Given the description of an element on the screen output the (x, y) to click on. 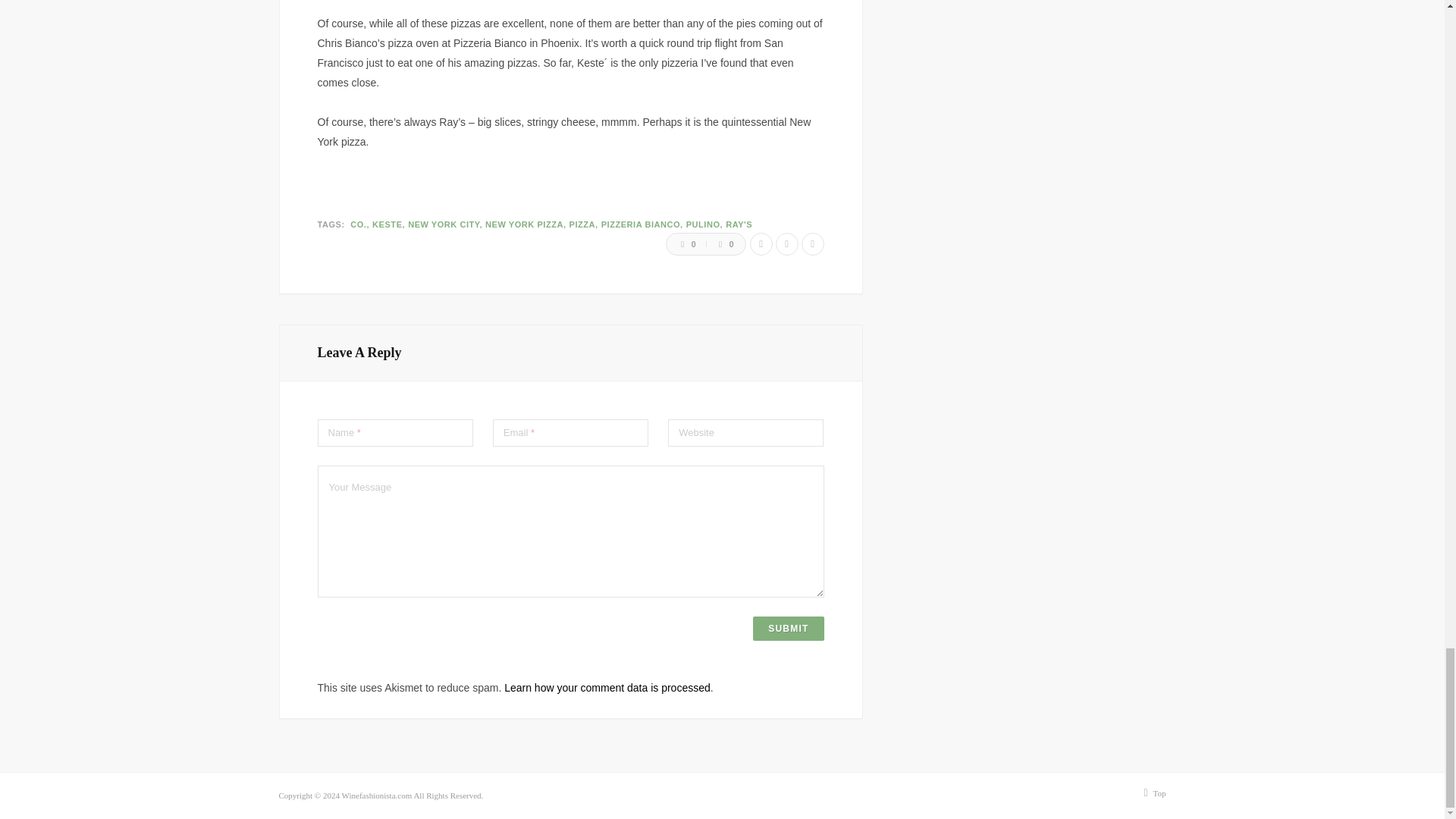
RAY'S (738, 224)
CO. (361, 224)
PIZZA (585, 224)
0 (680, 243)
NEW YORK CITY (445, 224)
PIZZERIA BIANCO (643, 224)
KESTE (389, 224)
Submit (788, 628)
NEW YORK PIZZA (526, 224)
PULINO (705, 224)
